Given the description of an element on the screen output the (x, y) to click on. 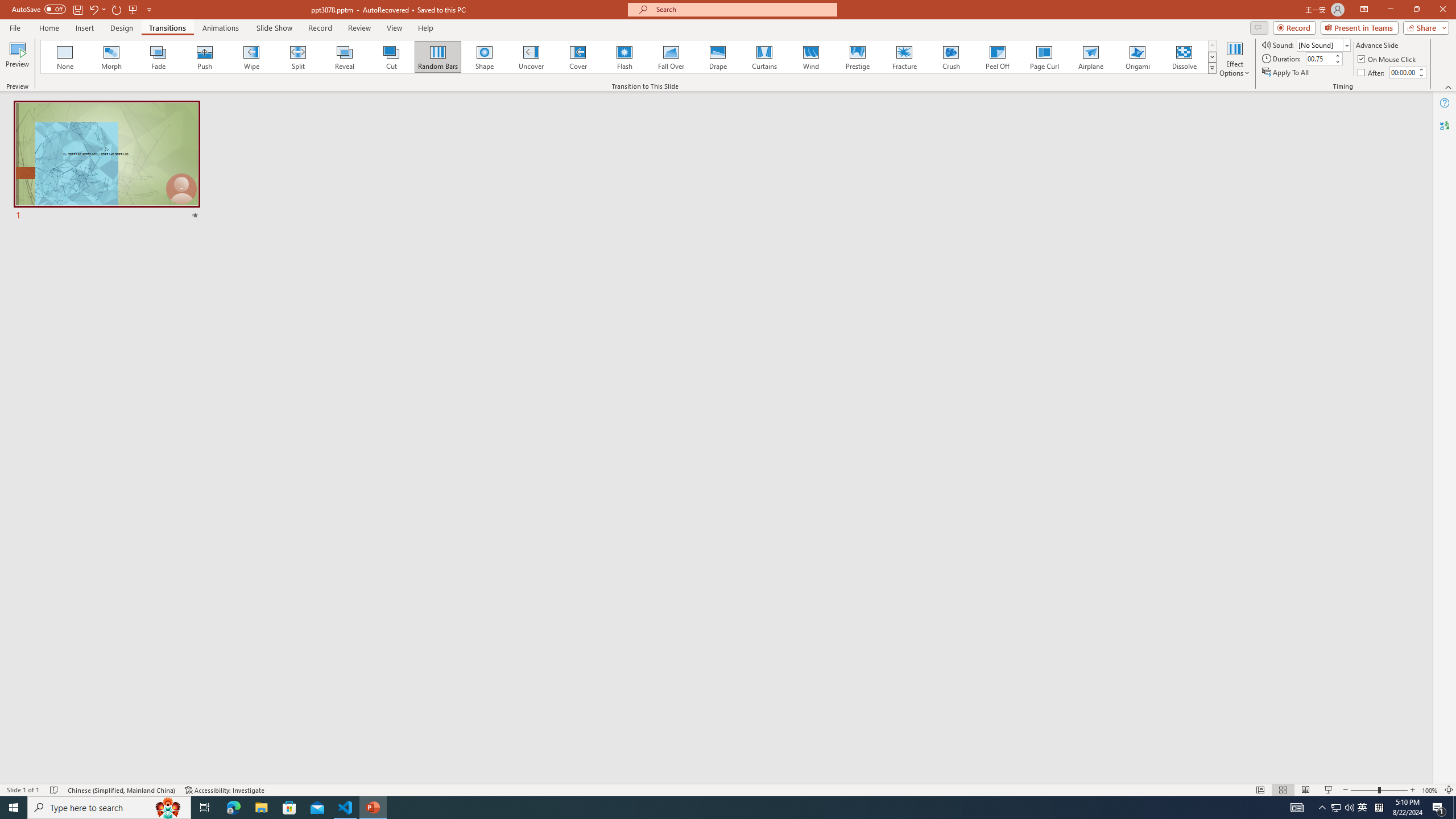
Duration (1319, 58)
Push (205, 56)
Reveal (344, 56)
Sound (1324, 44)
Drape (717, 56)
Uncover (531, 56)
